Given the description of an element on the screen output the (x, y) to click on. 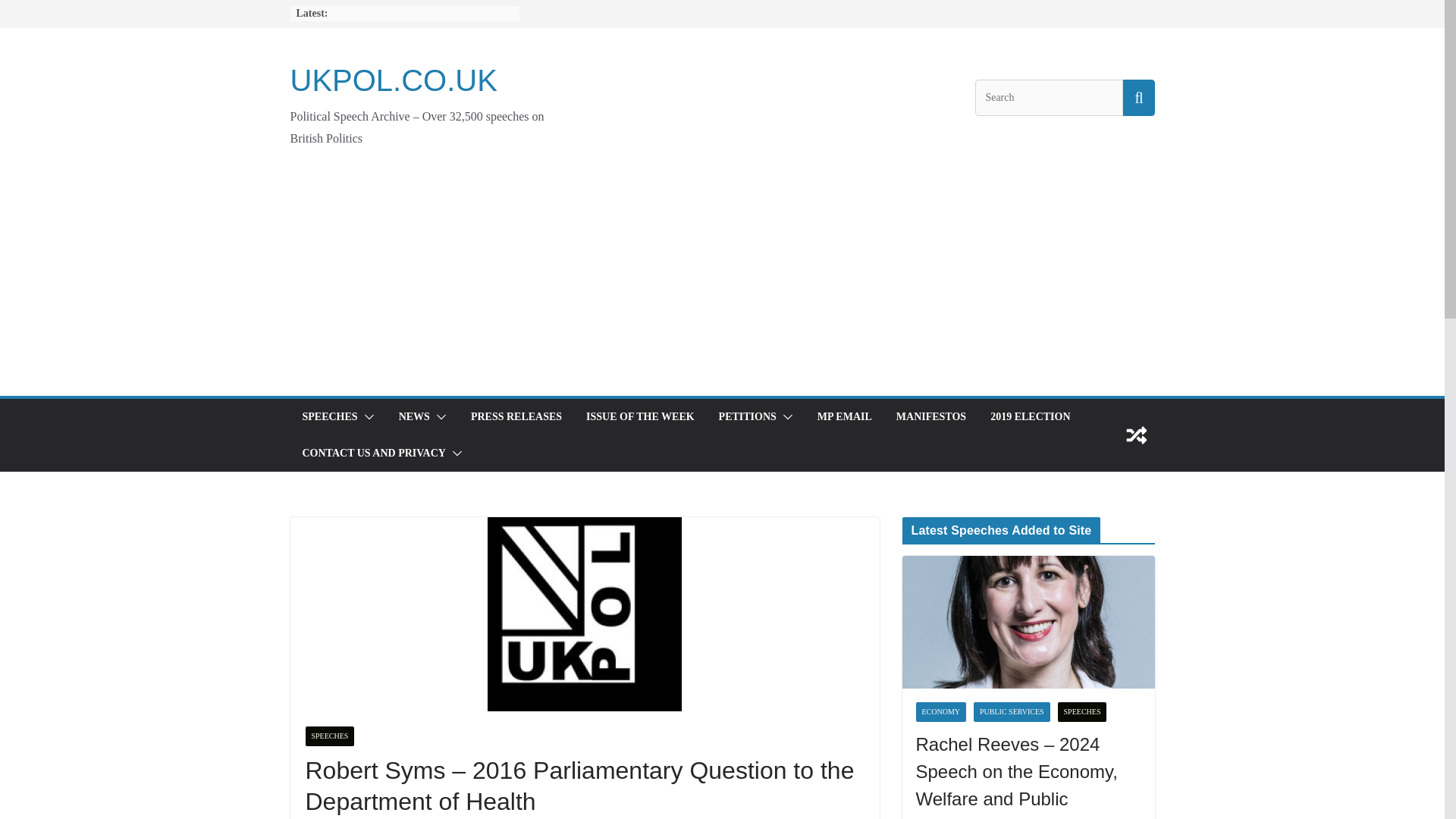
ISSUE OF THE WEEK (640, 416)
View a random post (1136, 434)
UKPOL.CO.UK (392, 80)
MP EMAIL (844, 416)
SPEECHES (328, 416)
CONTACT US AND PRIVACY (373, 453)
MANIFESTOS (931, 416)
PETITIONS (747, 416)
SPEECHES (328, 736)
